Given the description of an element on the screen output the (x, y) to click on. 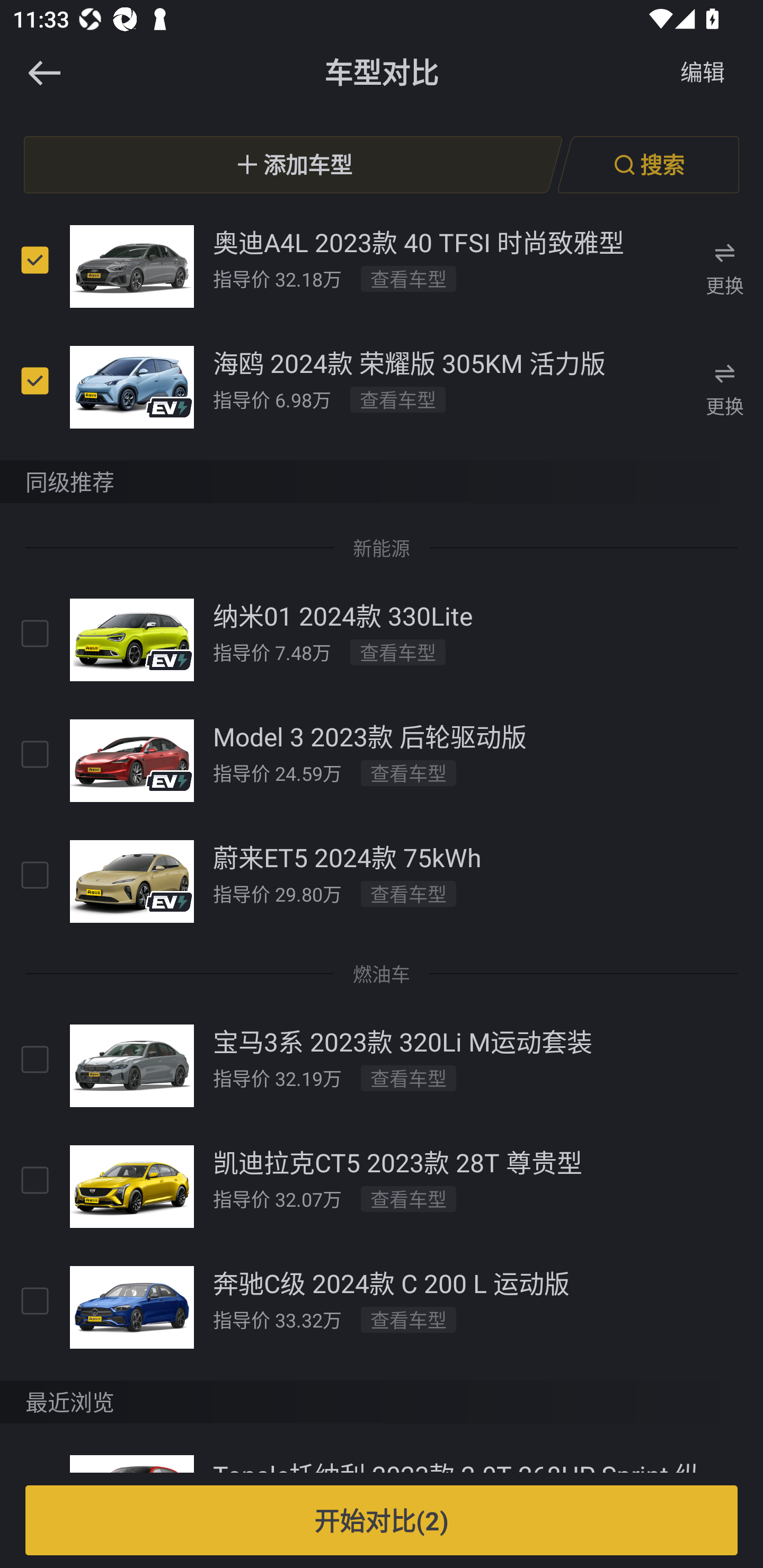
编辑 (702, 72)
 添加车型 (293, 164)
 搜索 (647, 164)
奥迪A4L 2023款 40 TFSI 时尚致雅型 指导价 32.18万 查看车型  更换 (381, 265)
 更换 (724, 265)
查看车型 (408, 278)
海鸥 2024款 荣耀版 305KM 活力版 指导价 6.98万 查看车型  更换 (381, 386)
 更换 (724, 386)
查看车型 (397, 399)
纳米01 2024款 330Lite 指导价 7.48万 查看车型 (381, 640)
查看车型 (397, 651)
Model 3 2023款 后轮驱动版 指导价 24.59万 查看车型 (381, 760)
查看车型 (408, 772)
蔚来ET5 2024款 75kWh 指导价 29.80万 查看车型 (381, 881)
查看车型 (408, 893)
宝马3系 2023款 320Li M运动套装 指导价 32.19万 查看车型 (381, 1065)
查看车型 (408, 1077)
凯迪拉克CT5 2023款 28T 尊贵型 指导价 32.07万 查看车型 (381, 1185)
查看车型 (408, 1198)
奔驰C级 2024款 C 200 L 运动版 指导价 33.32万 查看车型 (381, 1306)
查看车型 (408, 1319)
开始对比(2) (381, 1519)
